Given the description of an element on the screen output the (x, y) to click on. 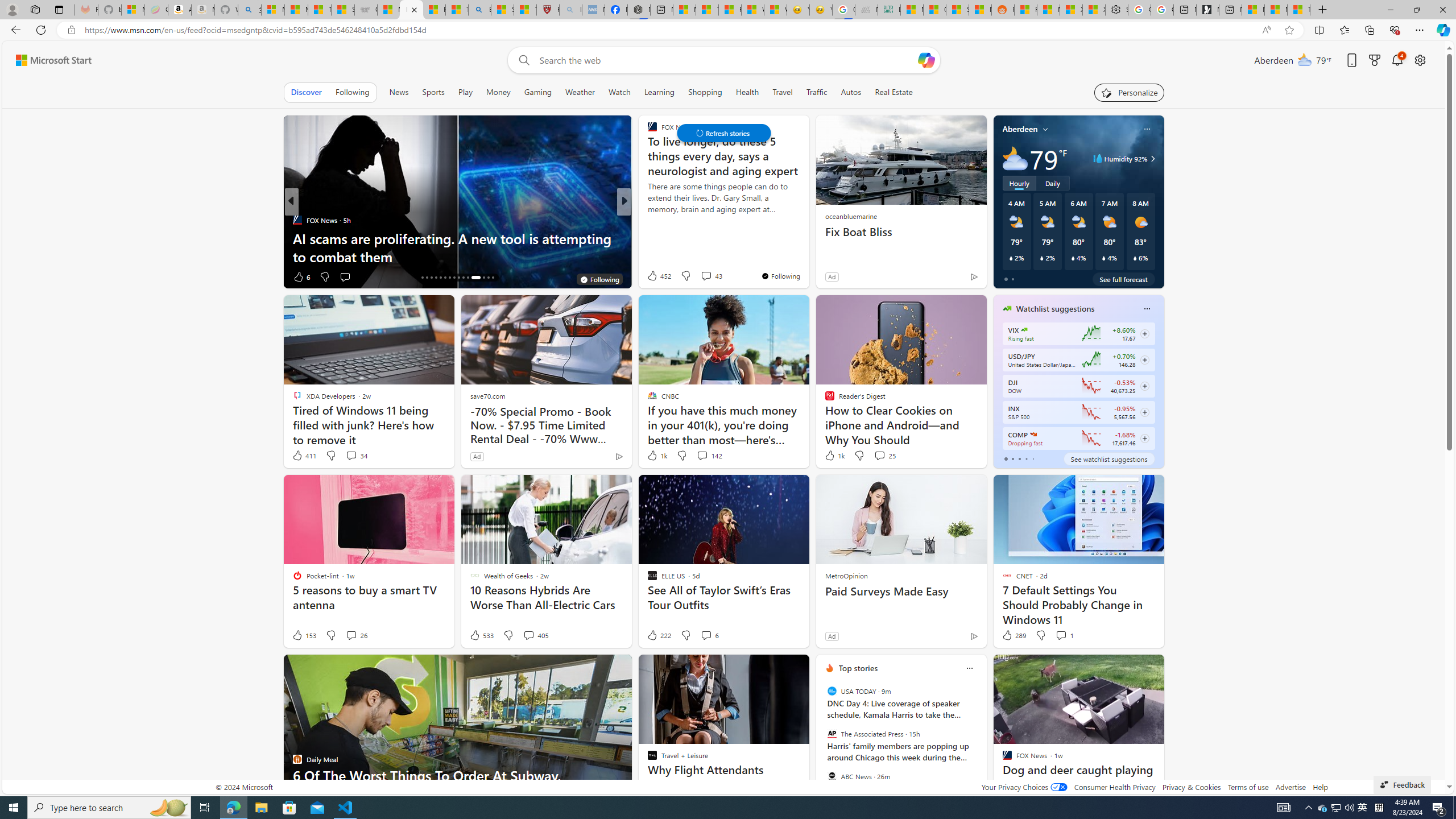
Paid Surveys Made Easy (900, 591)
533 Like (480, 634)
CBOE Market Volatility Index (1023, 329)
AutomationID: tab-20 (440, 277)
